Given the description of an element on the screen output the (x, y) to click on. 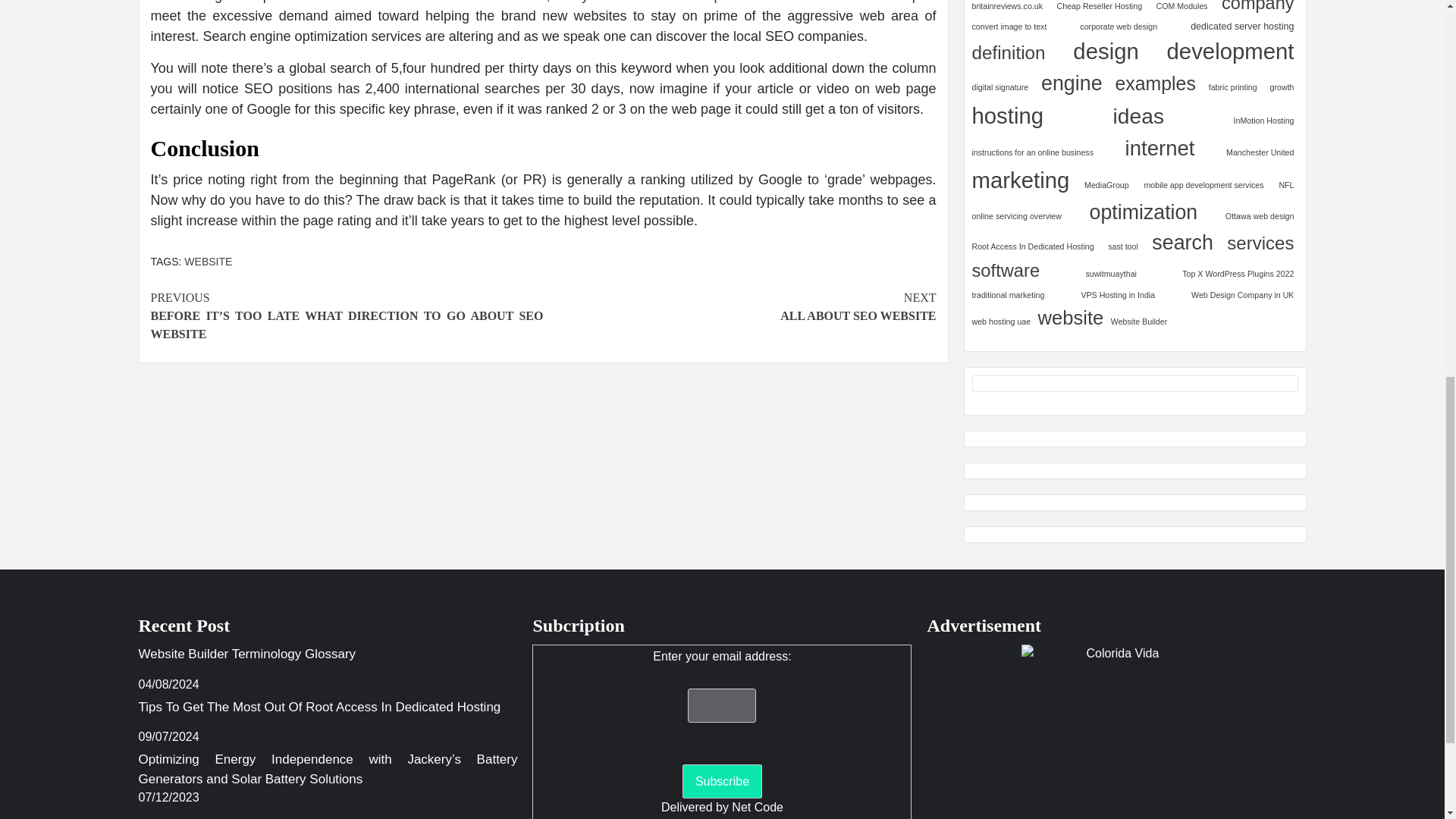
WEBSITE (739, 307)
Colorida Vida (207, 261)
Subscribe (1116, 731)
